Given the description of an element on the screen output the (x, y) to click on. 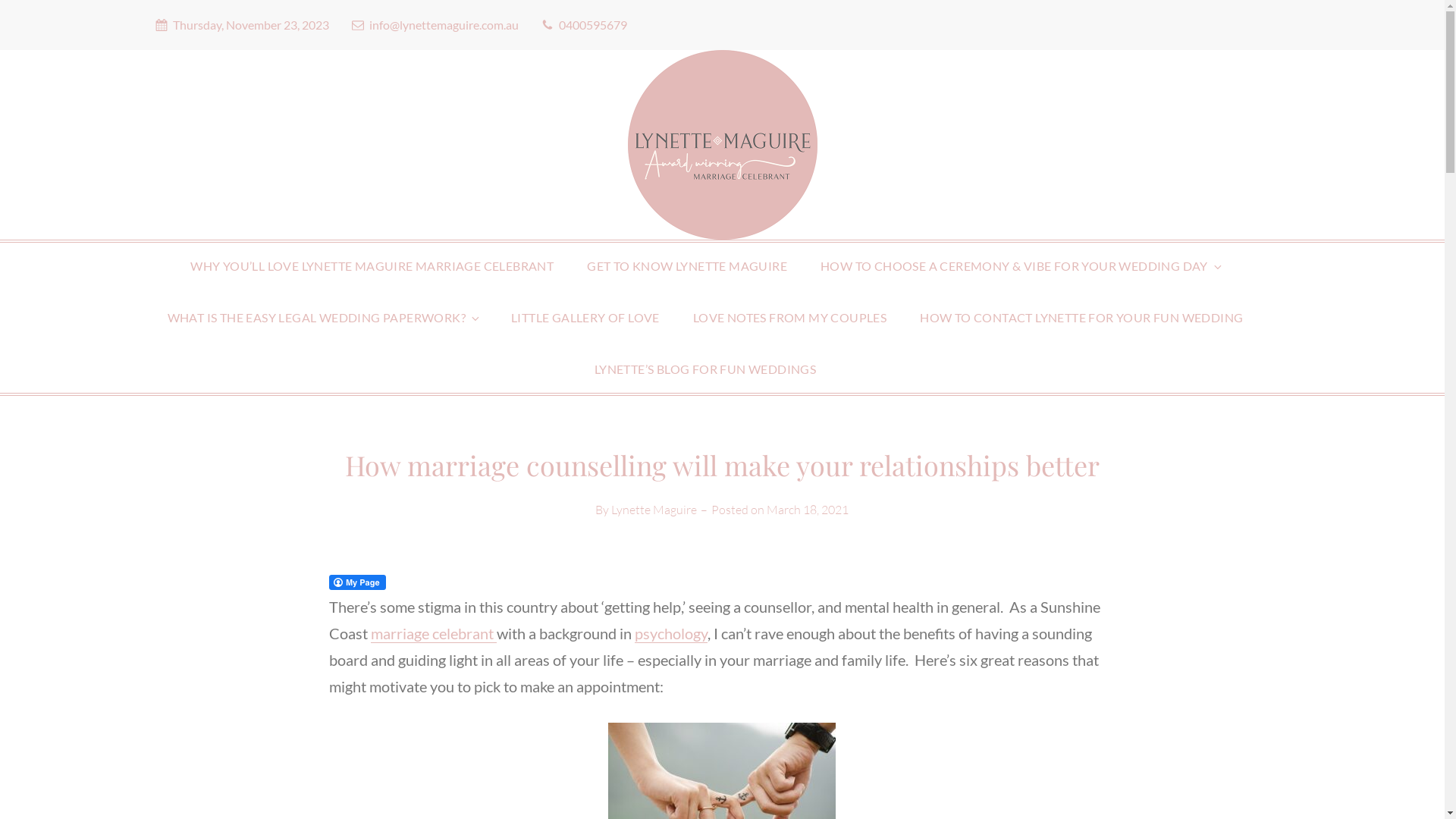
LOVE NOTES FROM MY COUPLES Element type: text (789, 317)
HOW TO CONTACT LYNETTE FOR YOUR FUN WEDDING Element type: text (1081, 317)
HOW TO CHOOSE A CEREMONY & VIBE FOR YOUR WEDDING DAY Element type: text (1020, 265)
marriage celebrant Element type: text (433, 633)
March 18, 2021 Element type: text (807, 509)
psychology Element type: text (670, 633)
0400595679 Element type: text (584, 24)
info@lynettemaguire.com.au Element type: text (434, 24)
Lynette Maguire Element type: text (653, 509)
WHAT IS THE EASY LEGAL WEDDING PAPERWORK? Element type: text (322, 317)
GET TO KNOW LYNETTE MAGUIRE Element type: text (686, 265)
LITTLE GALLERY OF LOVE Element type: text (584, 317)
